Given the description of an element on the screen output the (x, y) to click on. 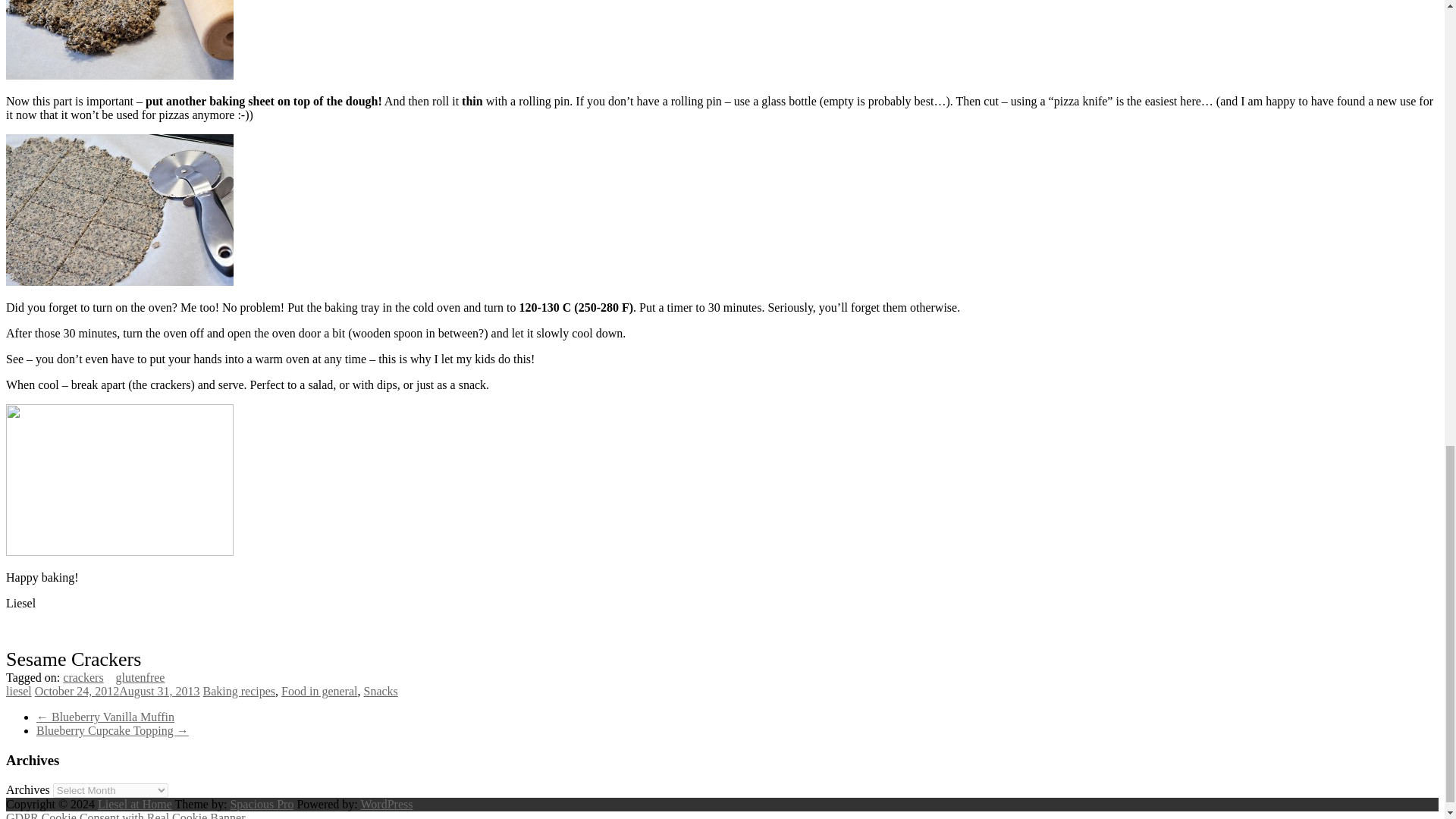
121024 009 - s (118, 209)
WordPress (387, 803)
121024 007 - s (118, 39)
Spacious Pro (262, 803)
Food in general (318, 690)
10:19 am (117, 690)
Liesel at Home (134, 803)
WordPress (387, 803)
liesel (18, 690)
October 24, 2012August 31, 2013 (117, 690)
